Given the description of an element on the screen output the (x, y) to click on. 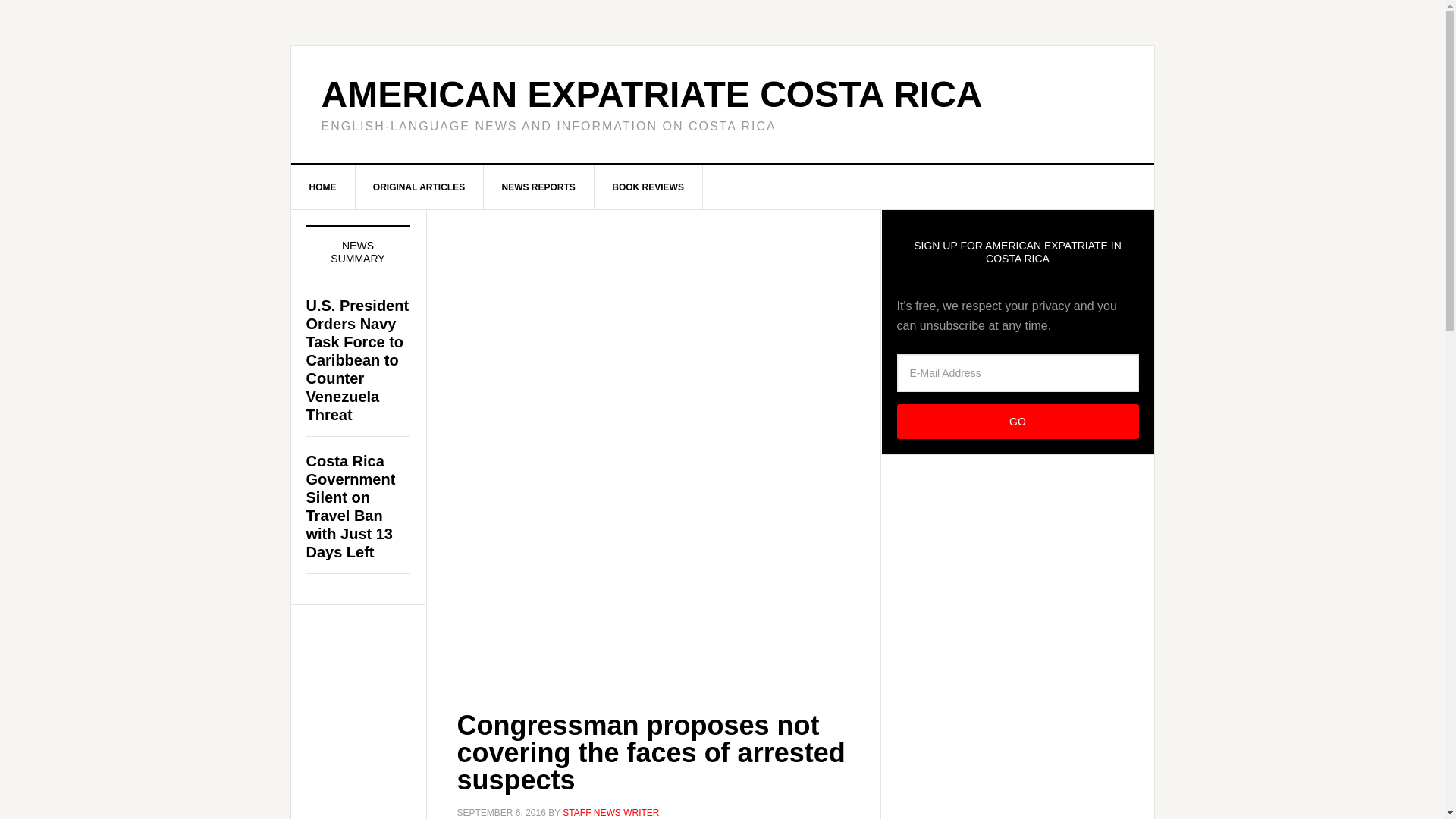
BOOK REVIEWS (648, 187)
NEWS REPORTS (538, 187)
STAFF NEWS WRITER (610, 812)
AMERICAN EXPATRIATE COSTA RICA (651, 94)
Go (1017, 421)
Go (1017, 421)
Advertisement (652, 551)
HOME (323, 187)
ORIGINAL ARTICLES (419, 187)
